Given the description of an element on the screen output the (x, y) to click on. 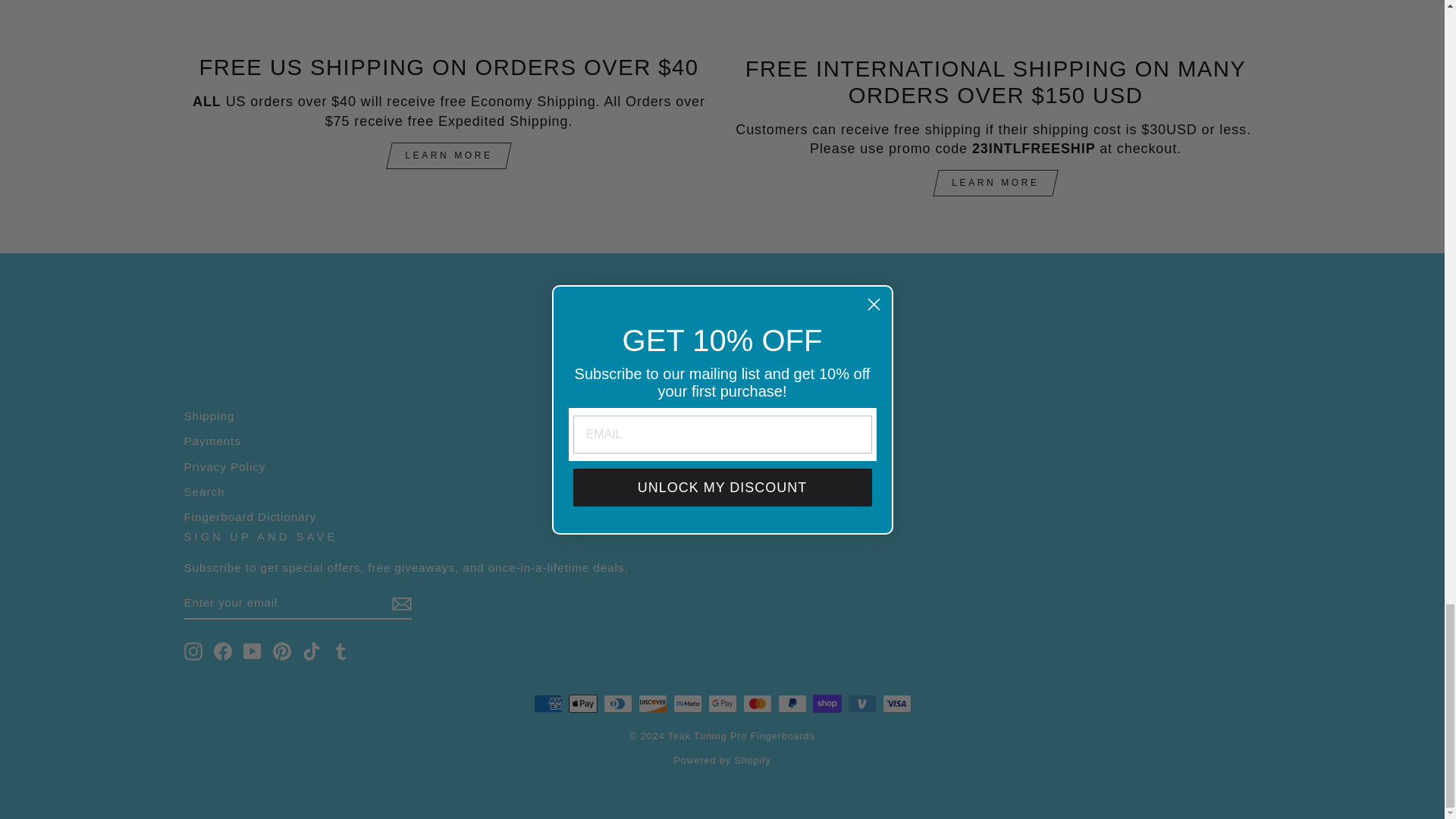
Teak Tuning Pro Fingerboards on YouTube (251, 651)
Diners Club (617, 703)
icon-email (400, 603)
instagram (192, 651)
Apple Pay (582, 703)
American Express (548, 703)
Teak Tuning Pro Fingerboards on Instagram (192, 651)
Discover (652, 703)
Teak Tuning Pro Fingerboards on Facebook (222, 651)
Teak Tuning Pro Fingerboards on TikTok (310, 651)
Teak Tuning Pro Fingerboards on Tumblr (340, 651)
Teak Tuning Pro Fingerboards on Pinterest (282, 651)
tumblr (340, 651)
